Given the description of an element on the screen output the (x, y) to click on. 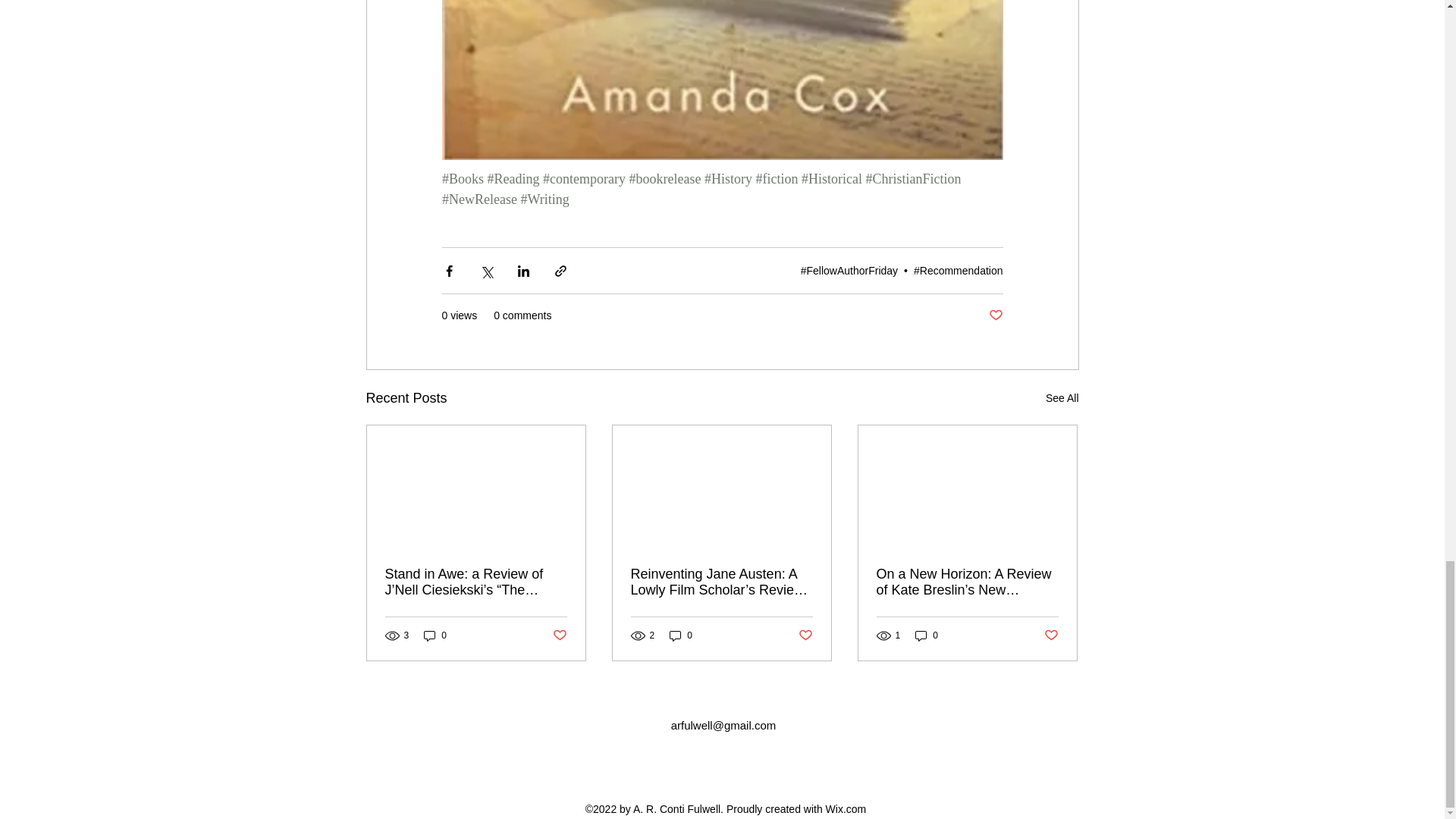
Post not marked as liked (995, 315)
See All (1061, 398)
